Given the description of an element on the screen output the (x, y) to click on. 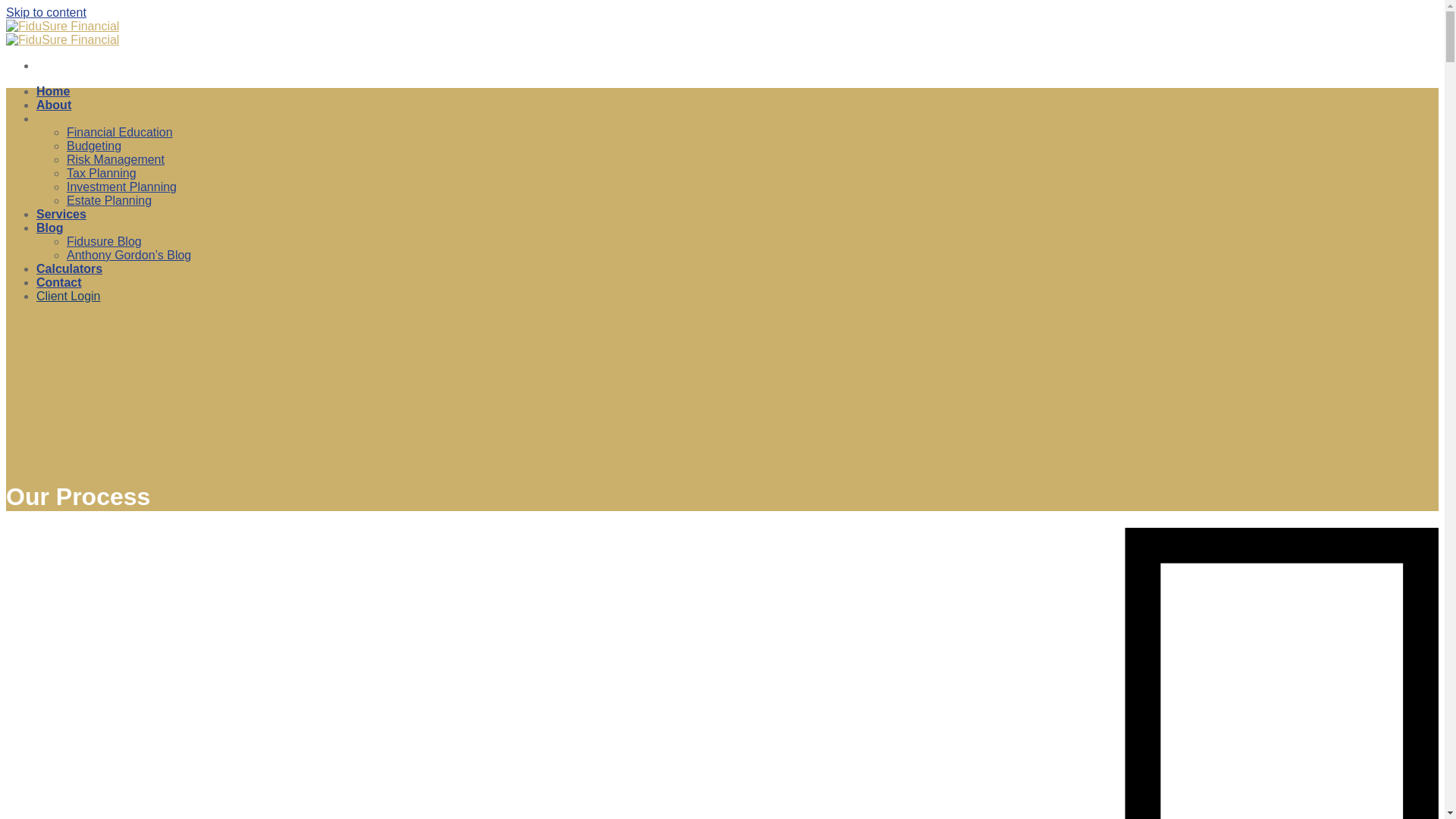
Client Login Element type: text (68, 295)
Investment Planning Element type: text (121, 186)
Home Element type: text (52, 90)
Estate Planning Element type: text (108, 200)
About Element type: text (53, 104)
Budgeting Element type: text (93, 145)
Risk Management Element type: text (115, 159)
Blog Element type: text (49, 227)
Financial Education Element type: text (119, 131)
Our Process Element type: text (72, 118)
Contact Element type: text (58, 282)
Skip to content Element type: text (46, 12)
Fidusure Blog Element type: text (103, 241)
Services Element type: text (61, 213)
Tax Planning Element type: text (101, 172)
Calculators Element type: text (69, 268)
FiduSure Financial - Co-creating your financial future Element type: hover (62, 32)
